Given the description of an element on the screen output the (x, y) to click on. 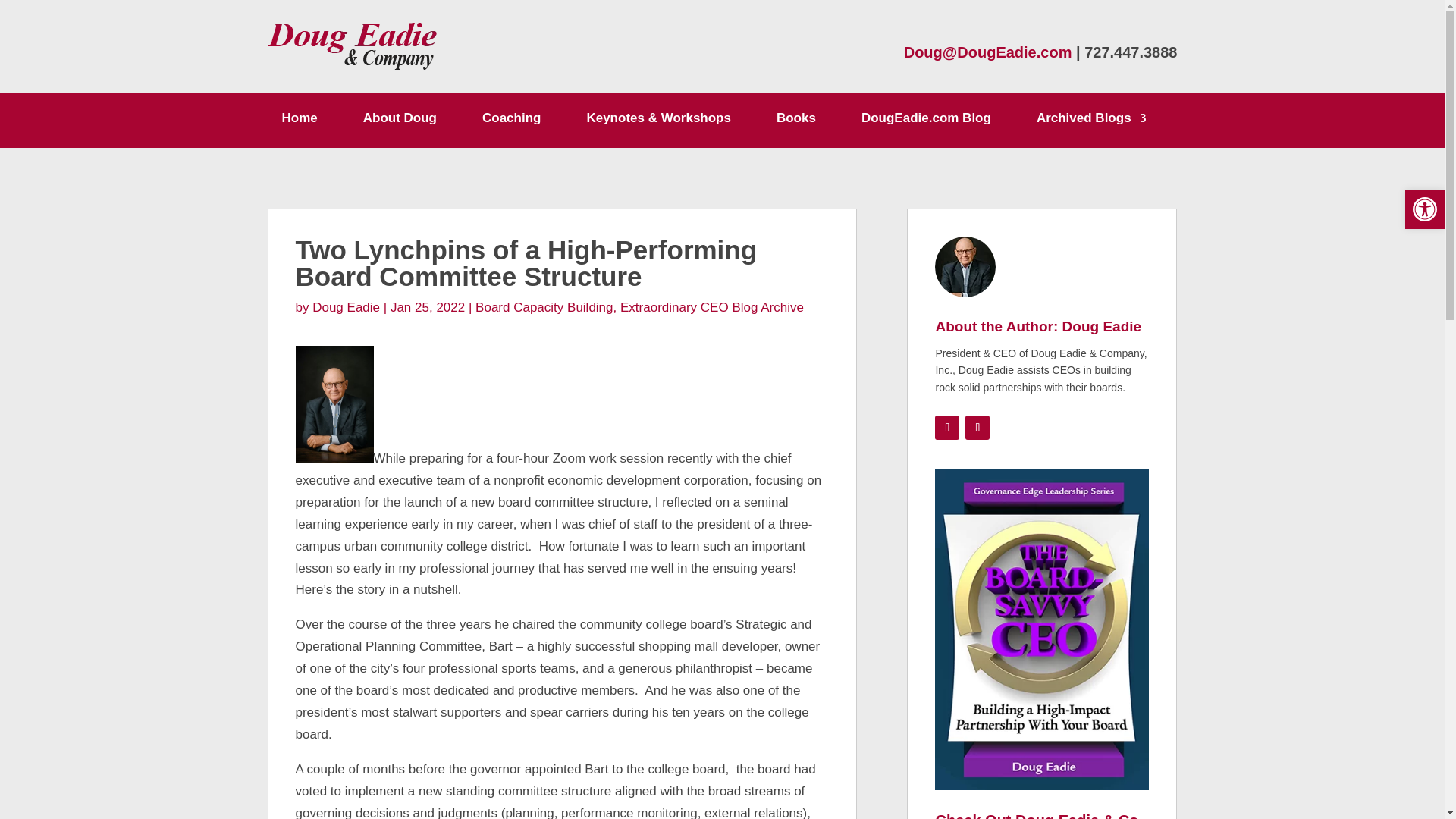
About Doug (399, 121)
Accessibility Tools (1424, 209)
Posts by Doug Eadie (346, 307)
Board Capacity Building (544, 307)
Follow on Facebook (946, 427)
Doug Eadie (346, 307)
DougEadie.com Blog (926, 121)
dougauthor (964, 266)
727.447.3888 (1130, 52)
Coaching (510, 121)
Home (299, 121)
Follow on LinkedIn (977, 427)
Extraordinary CEO Blog Archive (711, 307)
Books (795, 121)
Archived Blogs (1091, 121)
